Given the description of an element on the screen output the (x, y) to click on. 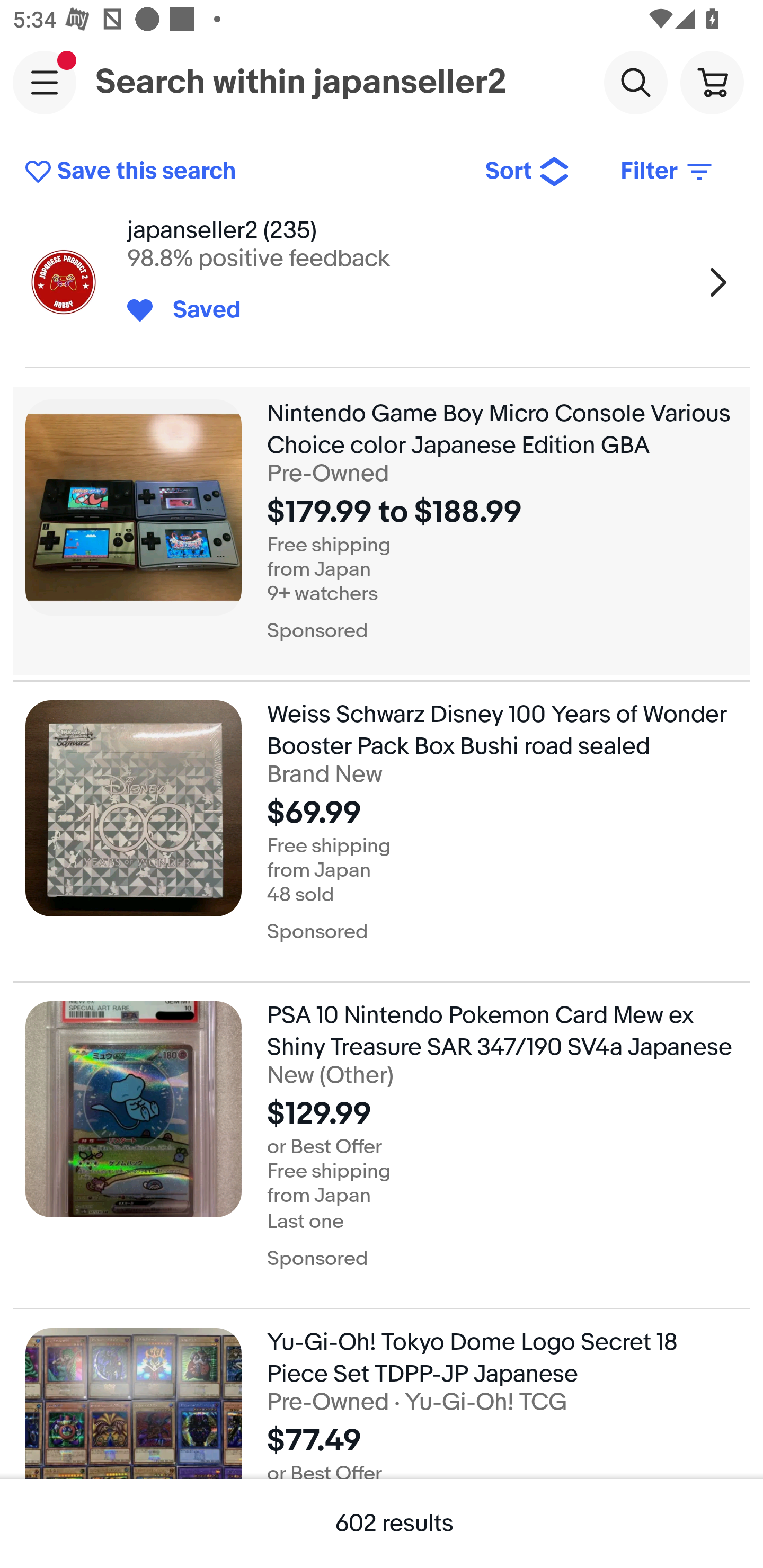
Main navigation, notification is pending, open (44, 82)
Search (635, 81)
Cart button shopping cart (711, 81)
Save this search (241, 171)
Sort (527, 171)
Filter (667, 171)
japanseller2 (235) 98.8% positive feedback Saved (381, 282)
Saved (197, 310)
